Given the description of an element on the screen output the (x, y) to click on. 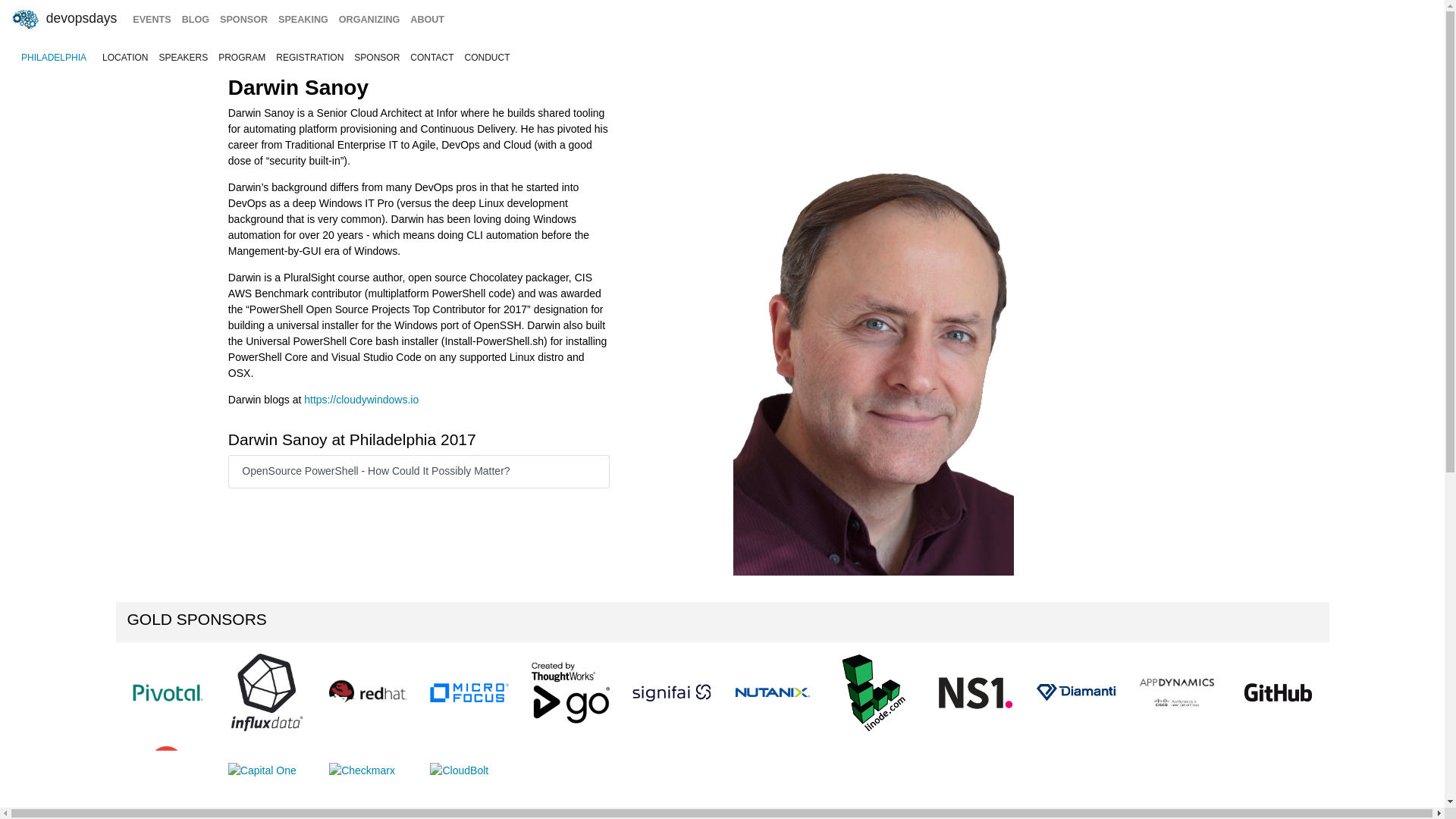
PROGRAM (241, 57)
CloudBolt (458, 770)
Pivotal (166, 692)
Checkmarx (361, 770)
SPEAKING (303, 19)
SPONSOR (376, 57)
SPONSOR (243, 19)
Google Cloud (166, 770)
REGISTRATION (309, 57)
ABOUT (426, 19)
